Given the description of an element on the screen output the (x, y) to click on. 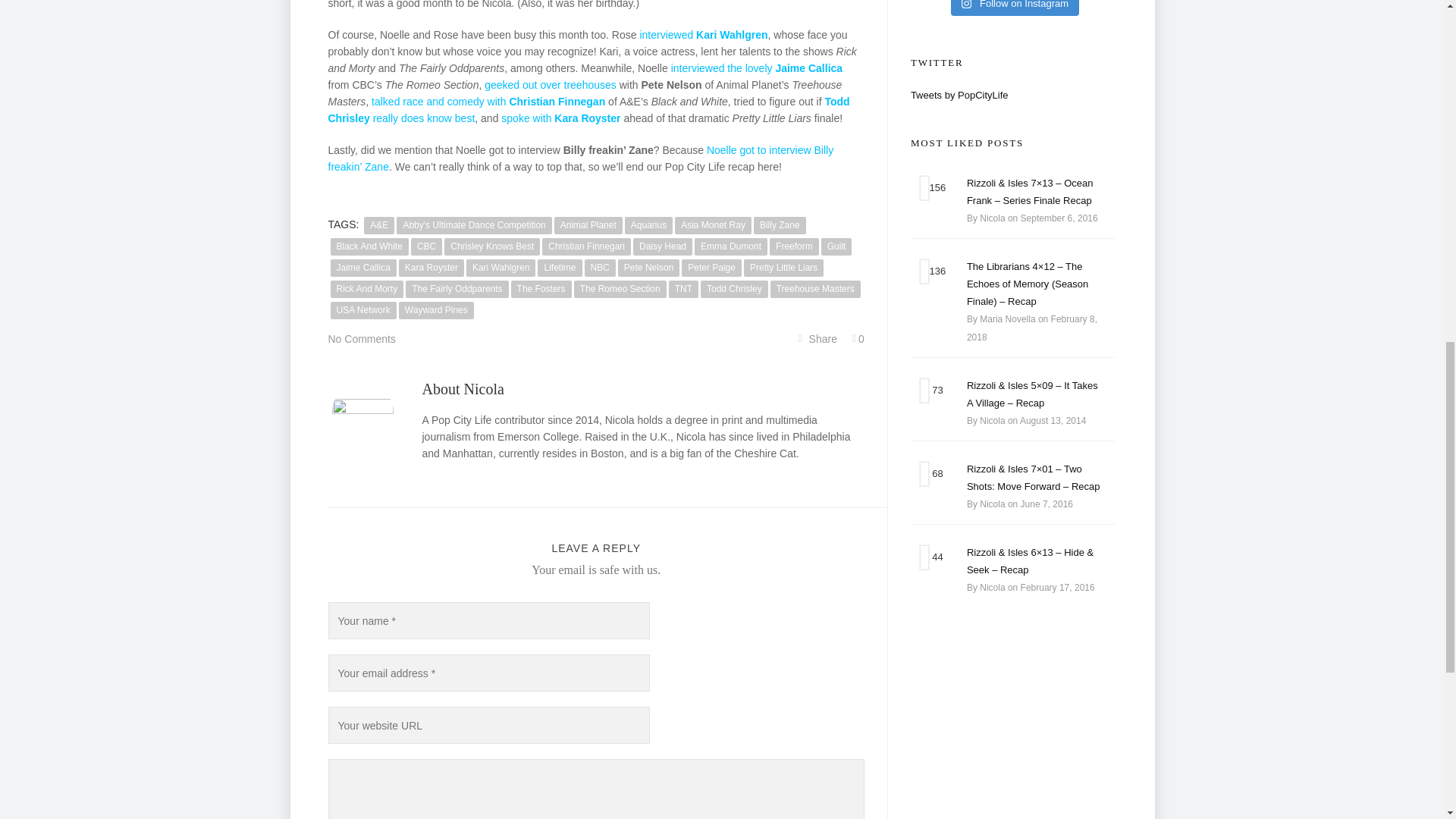
Aquarius (648, 225)
spoke with Kara Royster (560, 118)
geeked out over treehouses (549, 84)
CBC (426, 246)
Daisy Head (663, 246)
interviewed the lovely Jaime Callica (757, 68)
Asia Monet Ray (713, 225)
Abby'S Ultimate Dance Competition (473, 225)
Animal Planet (588, 225)
talked race and comedy with Christian Finnegan (488, 101)
